Given the description of an element on the screen output the (x, y) to click on. 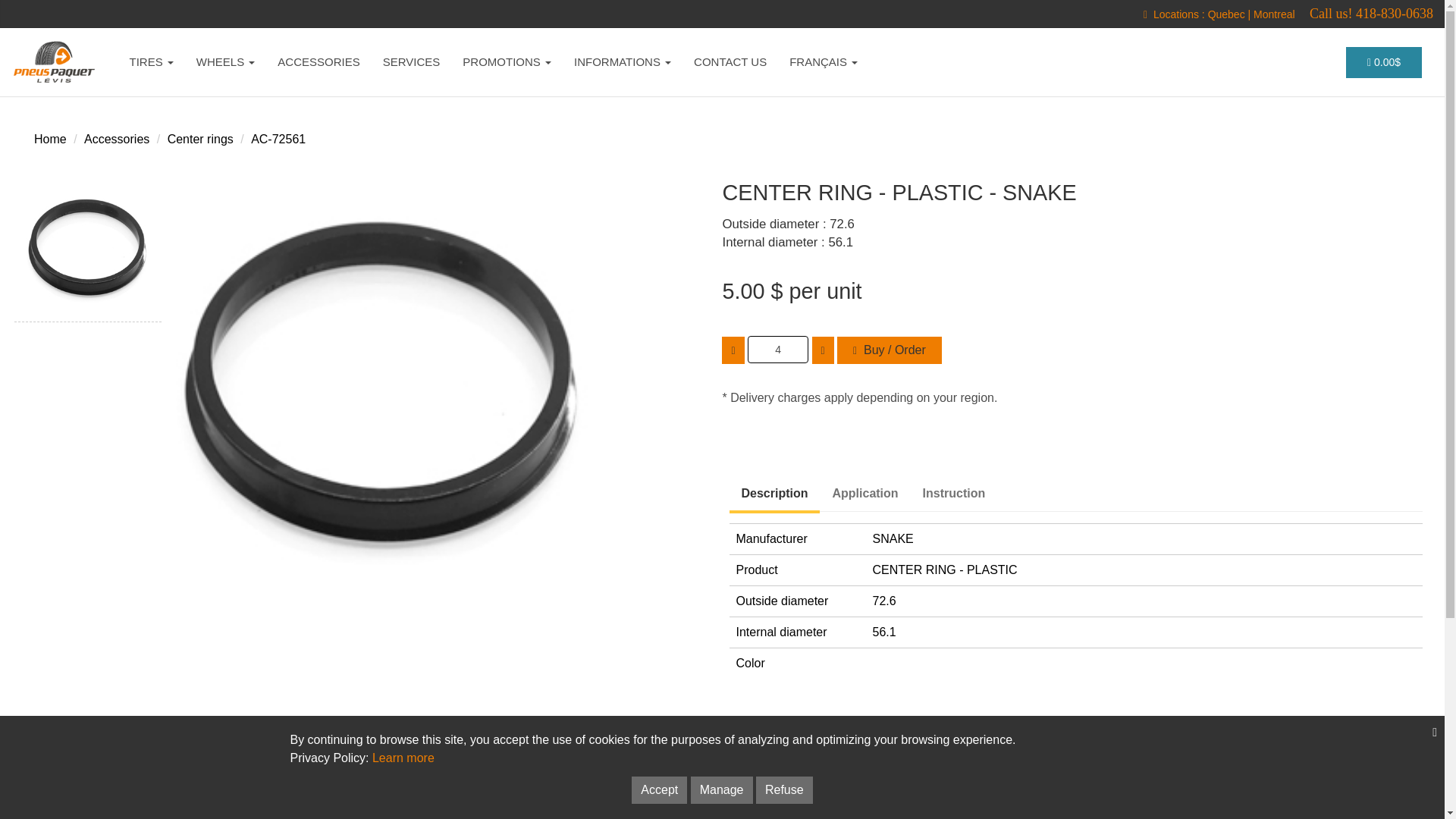
SERVICES (411, 61)
Montreal (1273, 14)
4 (778, 349)
WHEELS  (225, 61)
Pneus Paquet (1226, 14)
Quebec (1226, 14)
ACCESSORIES (318, 61)
Call us! 418-830-0638 (1370, 13)
INFORMATIONS  (622, 61)
Pneus Paquet (55, 61)
PROMOTIONS  (506, 61)
TIRES  (150, 61)
Pneus St-Hubert (1273, 14)
